Given the description of an element on the screen output the (x, y) to click on. 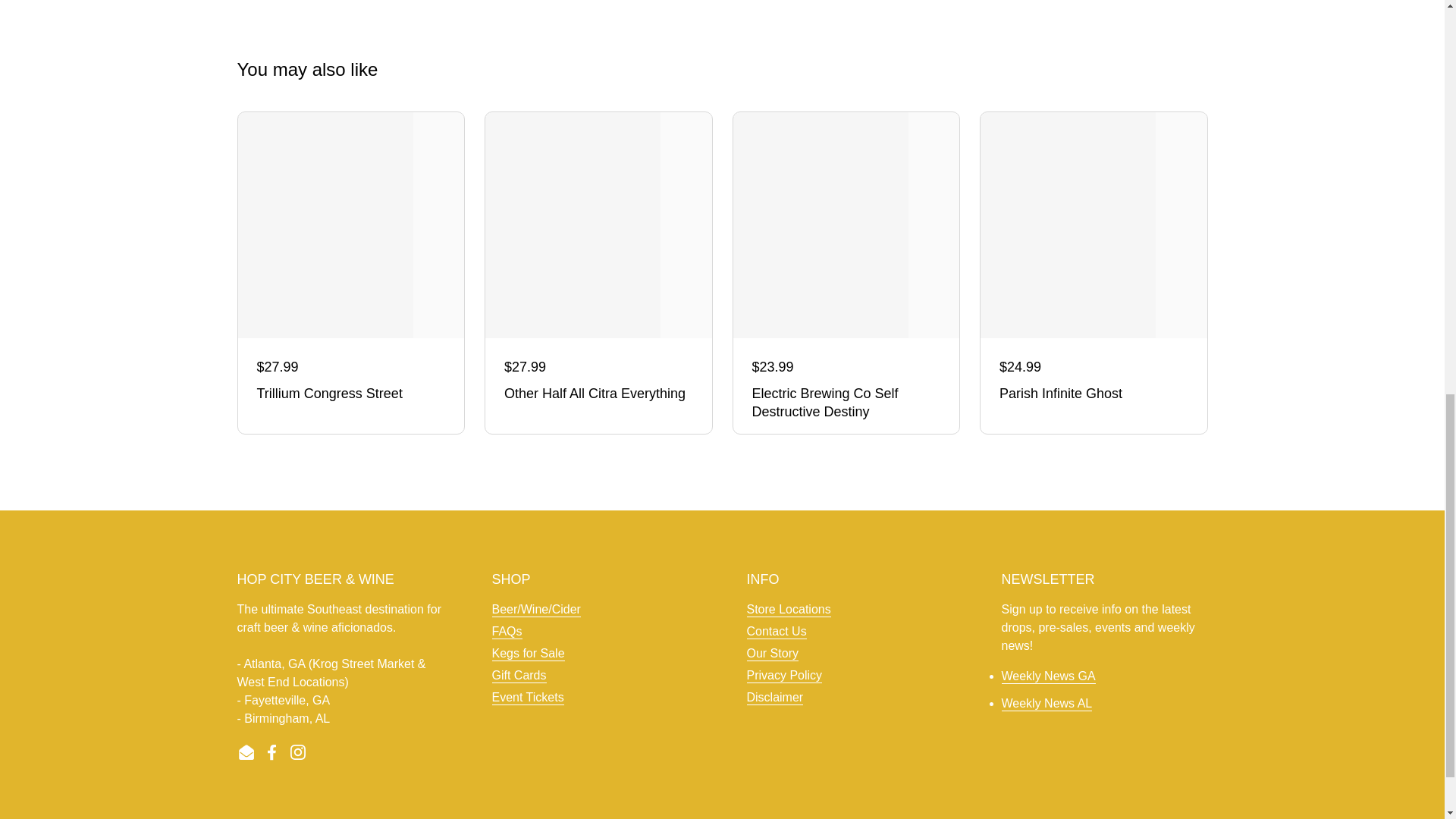
Trillium Congress Street (350, 393)
Other Half All Citra Everything (598, 393)
Weekly Blog - Georgia (1047, 676)
Electric Brewing Co Self Destructive Destiny (846, 402)
Parish Infinite Ghost (1093, 393)
Weekly Blog - Birmingham, AL (1046, 703)
